Given the description of an element on the screen output the (x, y) to click on. 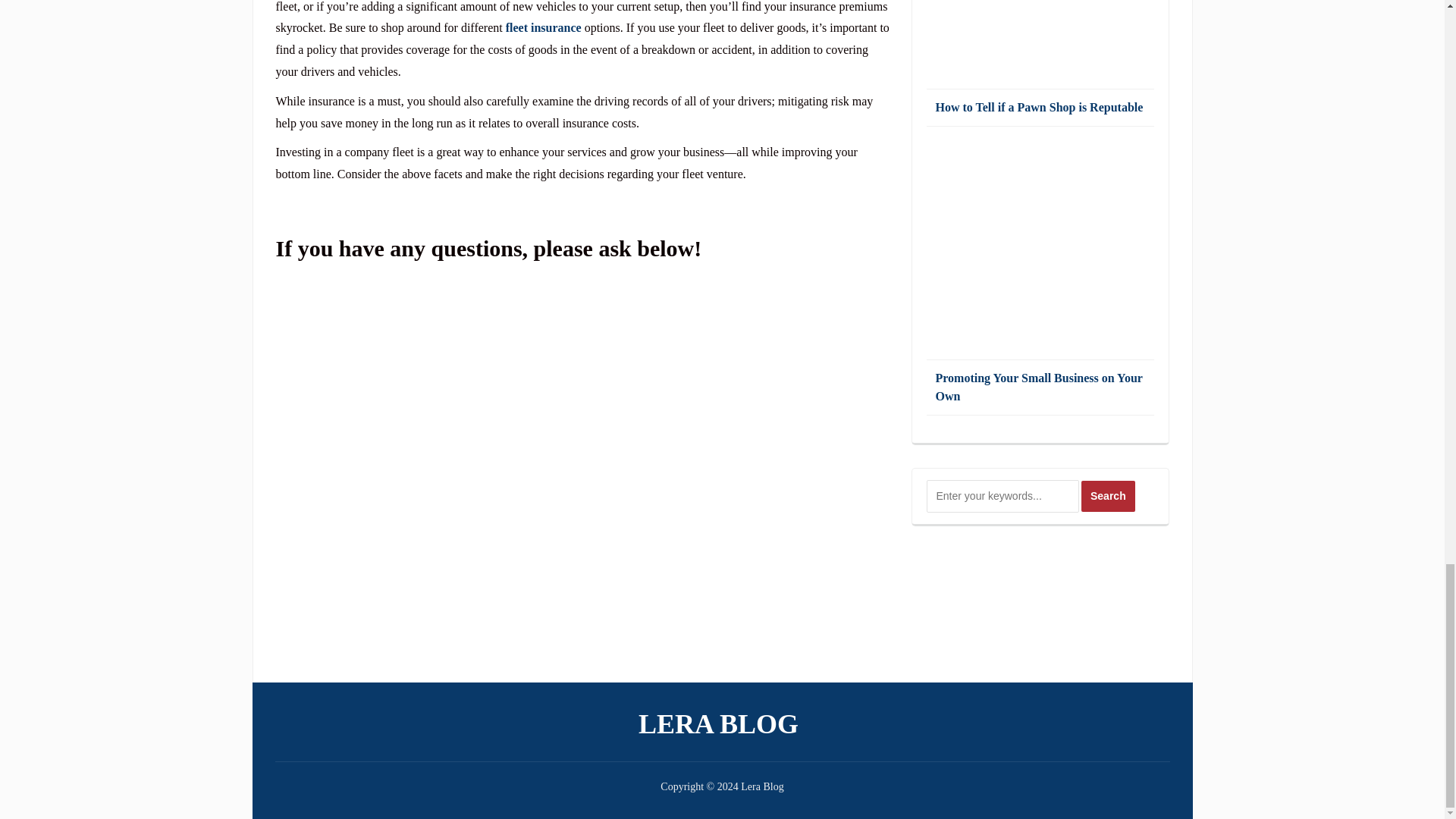
Search (1108, 495)
Search (1108, 495)
